Given the description of an element on the screen output the (x, y) to click on. 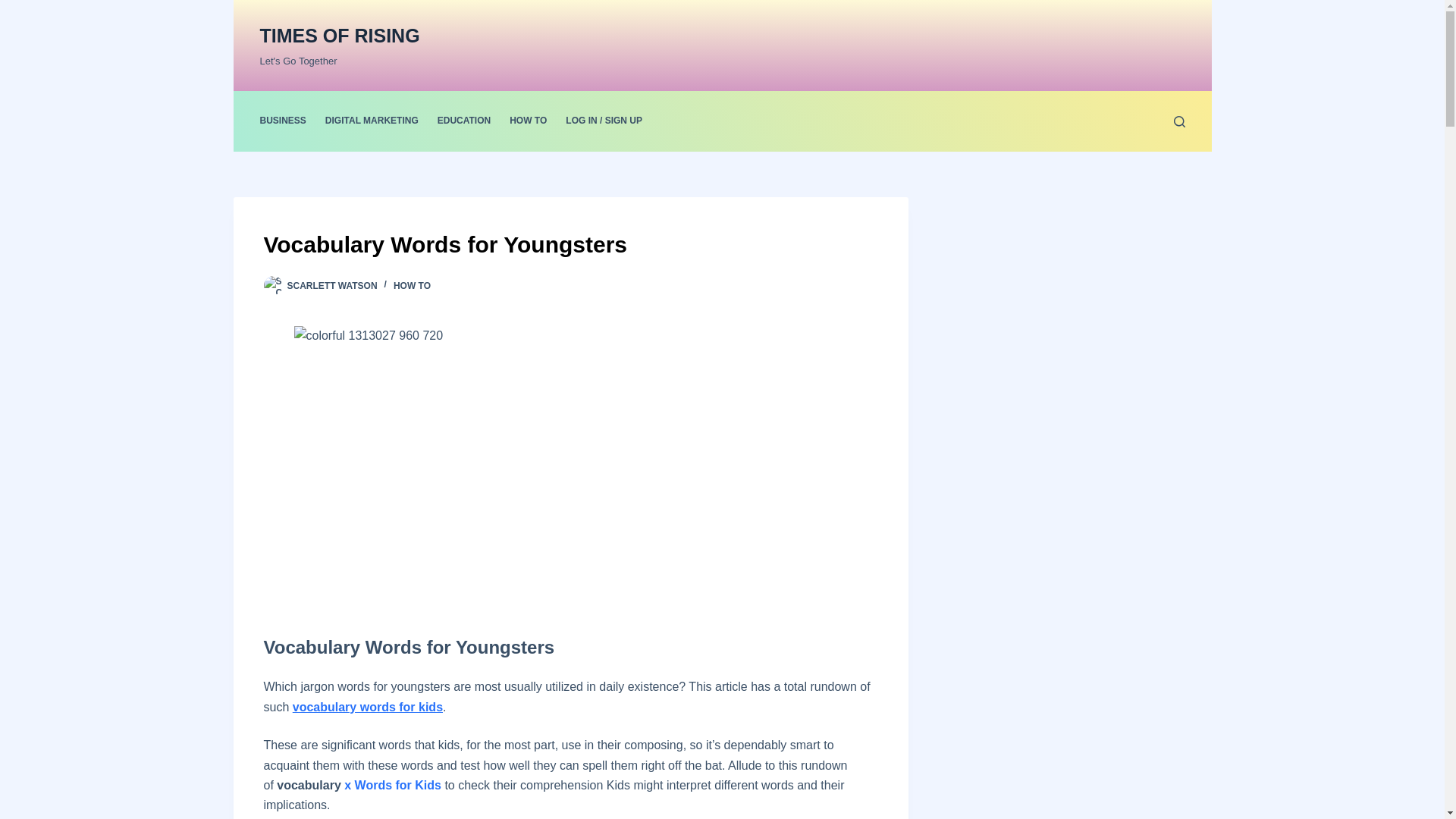
HOW TO (528, 120)
TIMES OF RISING (339, 35)
EDUCATION (463, 120)
BUSINESS (287, 120)
Posts by Scarlett Watson (331, 285)
vocabulary words for kids (367, 707)
SCARLETT WATSON (331, 285)
Vocabulary Words for Youngsters (570, 244)
Skip to content (15, 7)
HOW TO (411, 285)
x Words for Kids (392, 784)
DIGITAL MARKETING (371, 120)
